Given the description of an element on the screen output the (x, y) to click on. 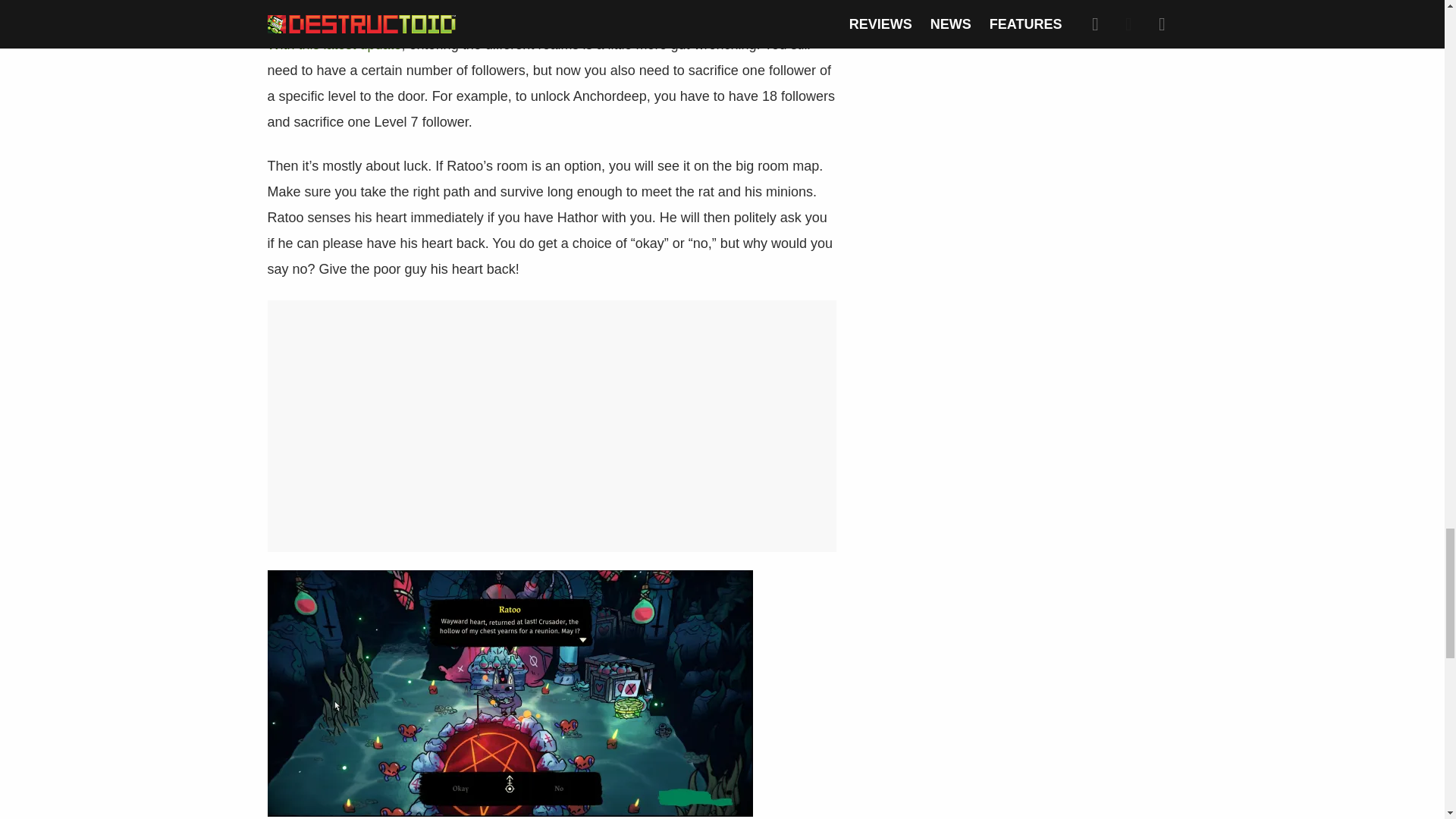
With this latest update (333, 44)
